Given the description of an element on the screen output the (x, y) to click on. 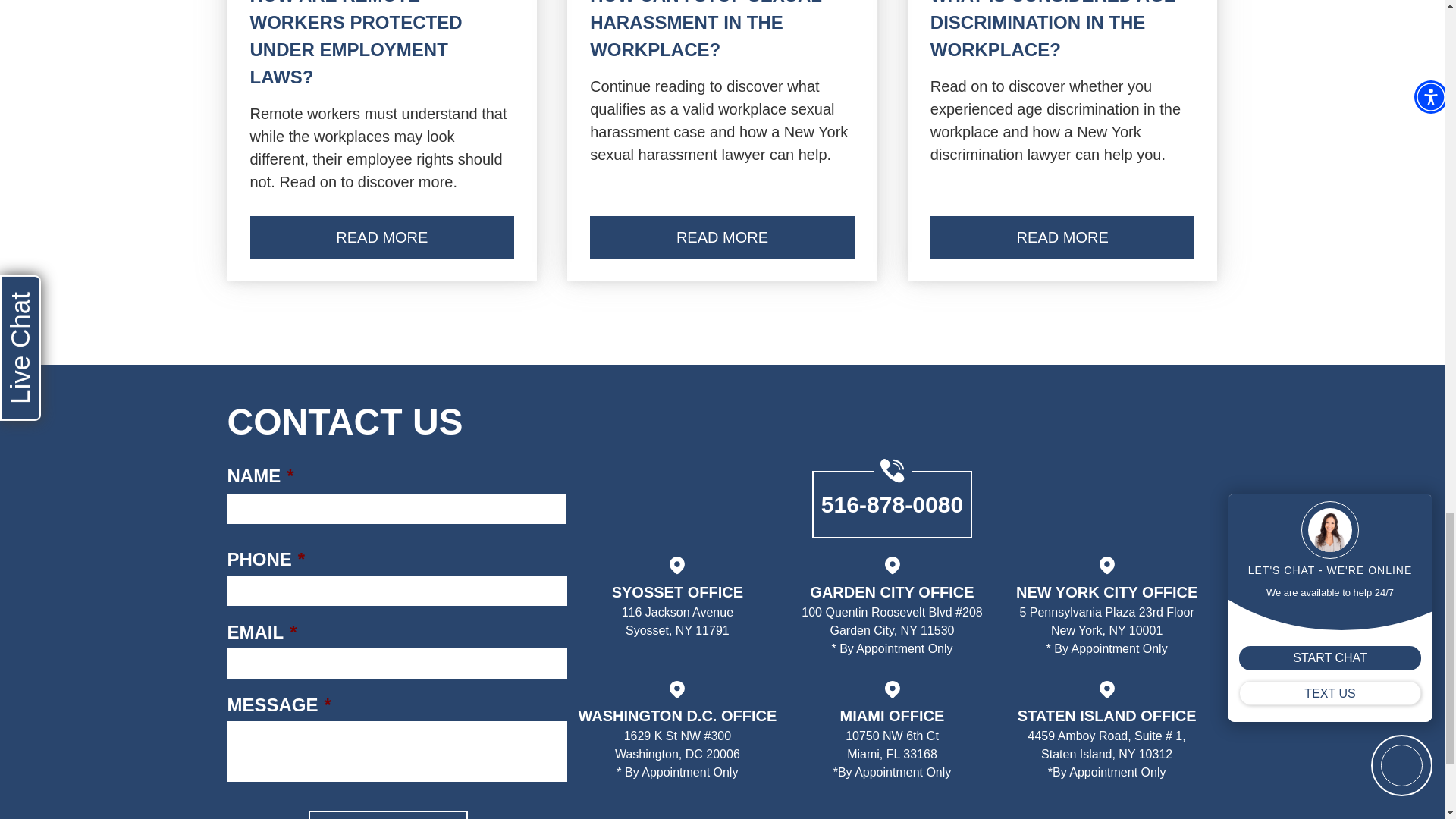
Send Message (387, 814)
